Given the description of an element on the screen output the (x, y) to click on. 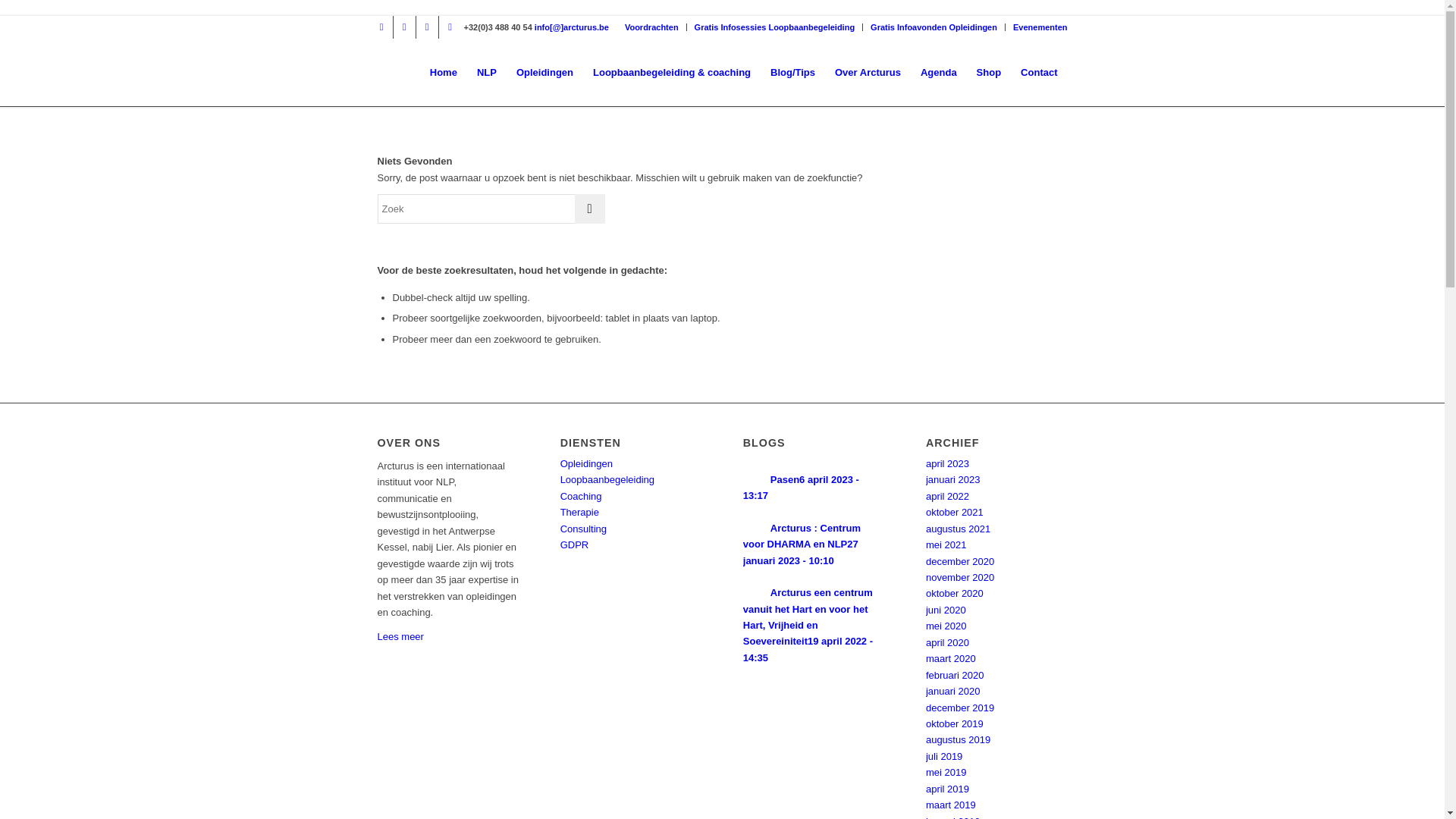
maart 2020 Element type: text (950, 658)
Consulting Element type: text (583, 528)
Therapie Element type: text (579, 511)
Opleidingen Element type: text (586, 463)
Twitter Element type: hover (381, 26)
januari 2020 Element type: text (952, 690)
Blog/Tips Element type: text (792, 72)
Youtube Element type: hover (426, 26)
augustus 2019 Element type: text (957, 739)
oktober 2019 Element type: text (954, 723)
NLP Element type: text (486, 72)
GDPR Element type: text (574, 544)
Coaching Element type: text (581, 496)
mei 2020 Element type: text (945, 625)
Pasen6 april 2023 - 13:17 Element type: text (801, 487)
Loopbaanbegeleiding Element type: text (607, 479)
augustus 2021 Element type: text (957, 528)
Agenda Element type: text (938, 72)
maart 2019 Element type: text (950, 804)
februari 2020 Element type: text (954, 674)
november 2020 Element type: text (959, 577)
mei 2019 Element type: text (945, 772)
Lees meer Element type: text (400, 636)
Shop Element type: text (988, 72)
oktober 2021 Element type: text (954, 511)
Gratis Infoavonden Opleidingen Element type: text (933, 27)
Opleidingen Element type: text (544, 72)
oktober 2020 Element type: text (954, 593)
Over Arcturus Element type: text (867, 72)
Linkedin Element type: hover (449, 26)
juli 2019 Element type: text (943, 756)
april 2022 Element type: text (947, 496)
juni 2020 Element type: text (945, 609)
Home Element type: text (443, 72)
Evenementen Element type: text (1040, 27)
december 2019 Element type: text (959, 707)
Contact Element type: text (1038, 72)
april 2020 Element type: text (947, 642)
Voordrachten Element type: text (651, 27)
Gratis Infosessies Loopbaanbegeleiding Element type: text (774, 27)
Arcturus : Centrum voor DHARMA en NLP27 januari 2023 - 10:10 Element type: text (801, 544)
december 2020 Element type: text (959, 561)
info[@]arcturus.be Element type: text (571, 26)
Facebook Element type: hover (403, 26)
Loopbaanbegeleiding & coaching Element type: text (671, 72)
april 2019 Element type: text (947, 788)
januari 2023 Element type: text (952, 479)
april 2023 Element type: text (947, 463)
mei 2021 Element type: text (945, 544)
